Given the description of an element on the screen output the (x, y) to click on. 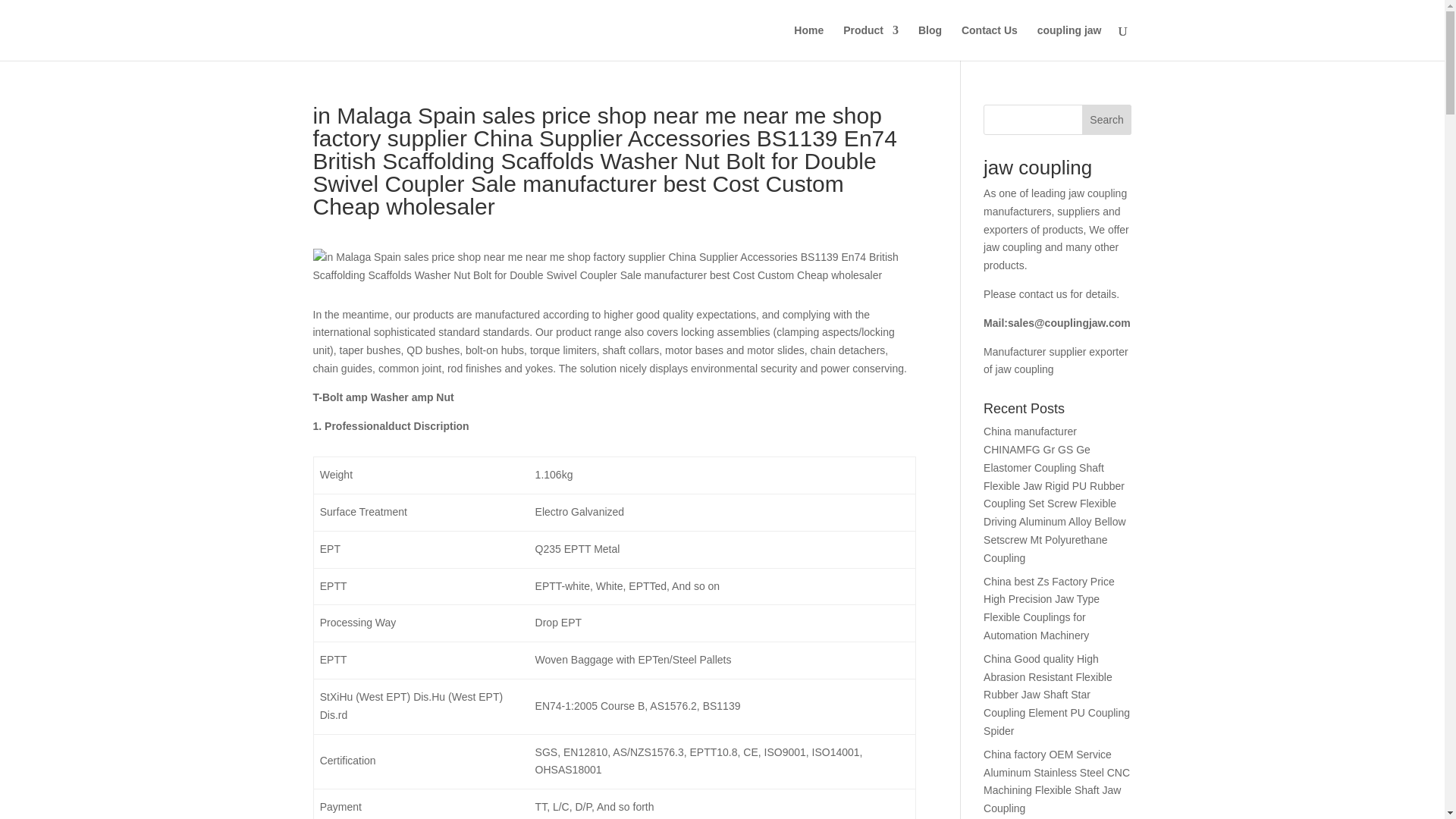
Product (870, 42)
Search (1106, 119)
Search (1106, 119)
Contact Us (988, 42)
coupling jaw (1069, 42)
